Given the description of an element on the screen output the (x, y) to click on. 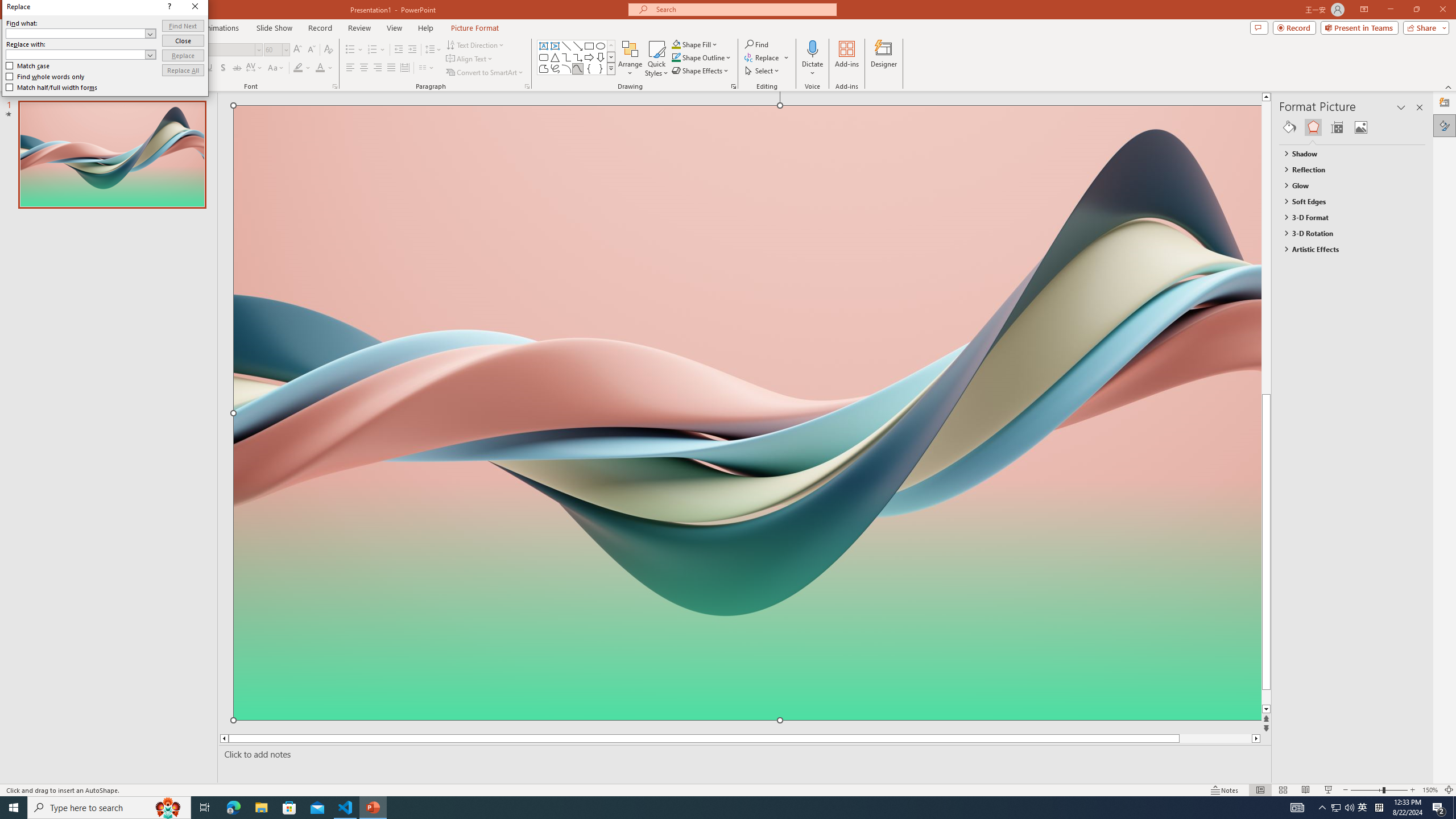
Action Center, 2 new notifications (1439, 807)
Zoom 150% (1430, 790)
Class: NetUIScrollBar (1420, 460)
